Given the description of an element on the screen output the (x, y) to click on. 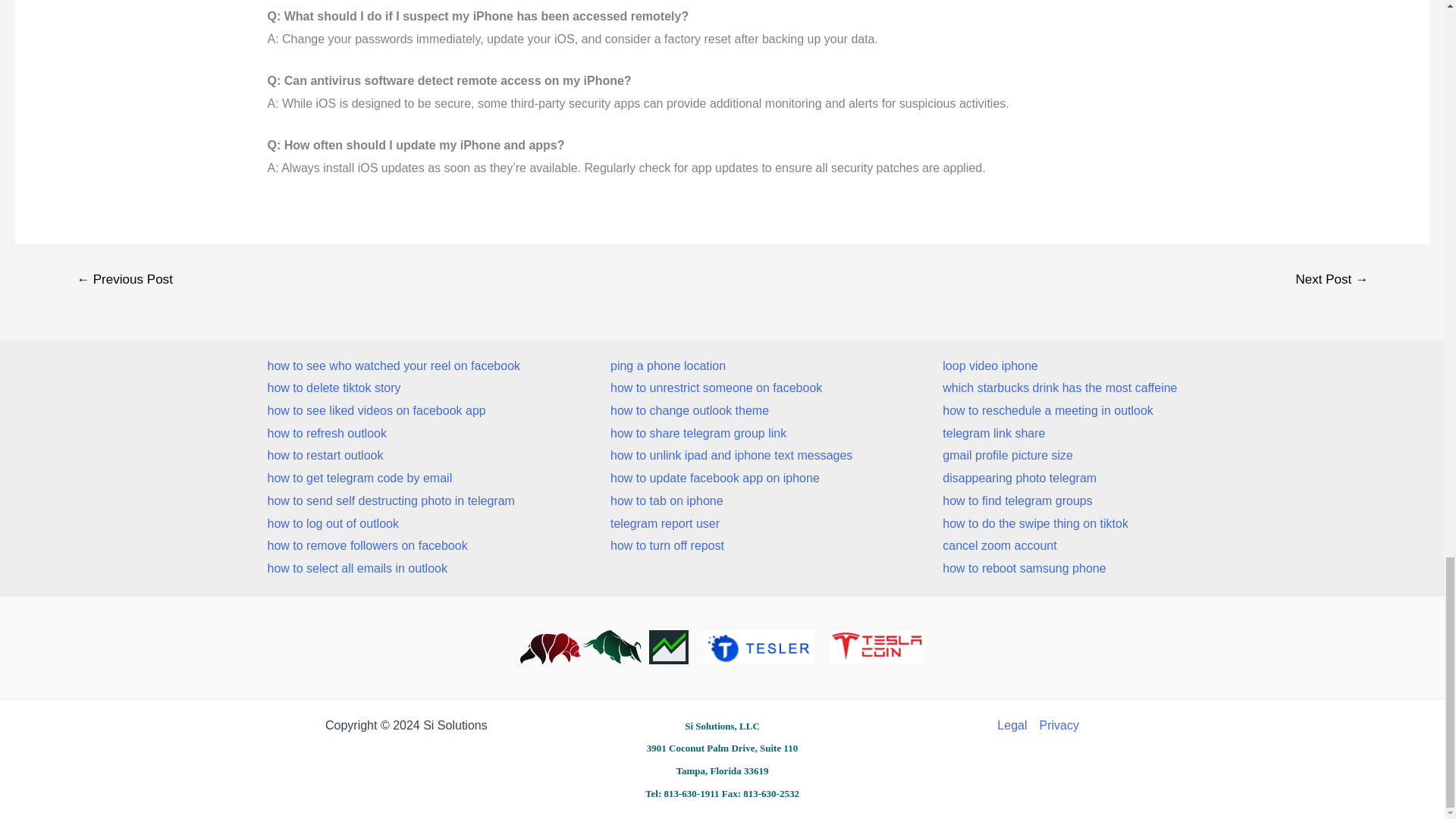
how to see who watched your reel on facebook (392, 365)
how to delete tiktok story (392, 387)
how to see liked videos on facebook app (392, 410)
